Given the description of an element on the screen output the (x, y) to click on. 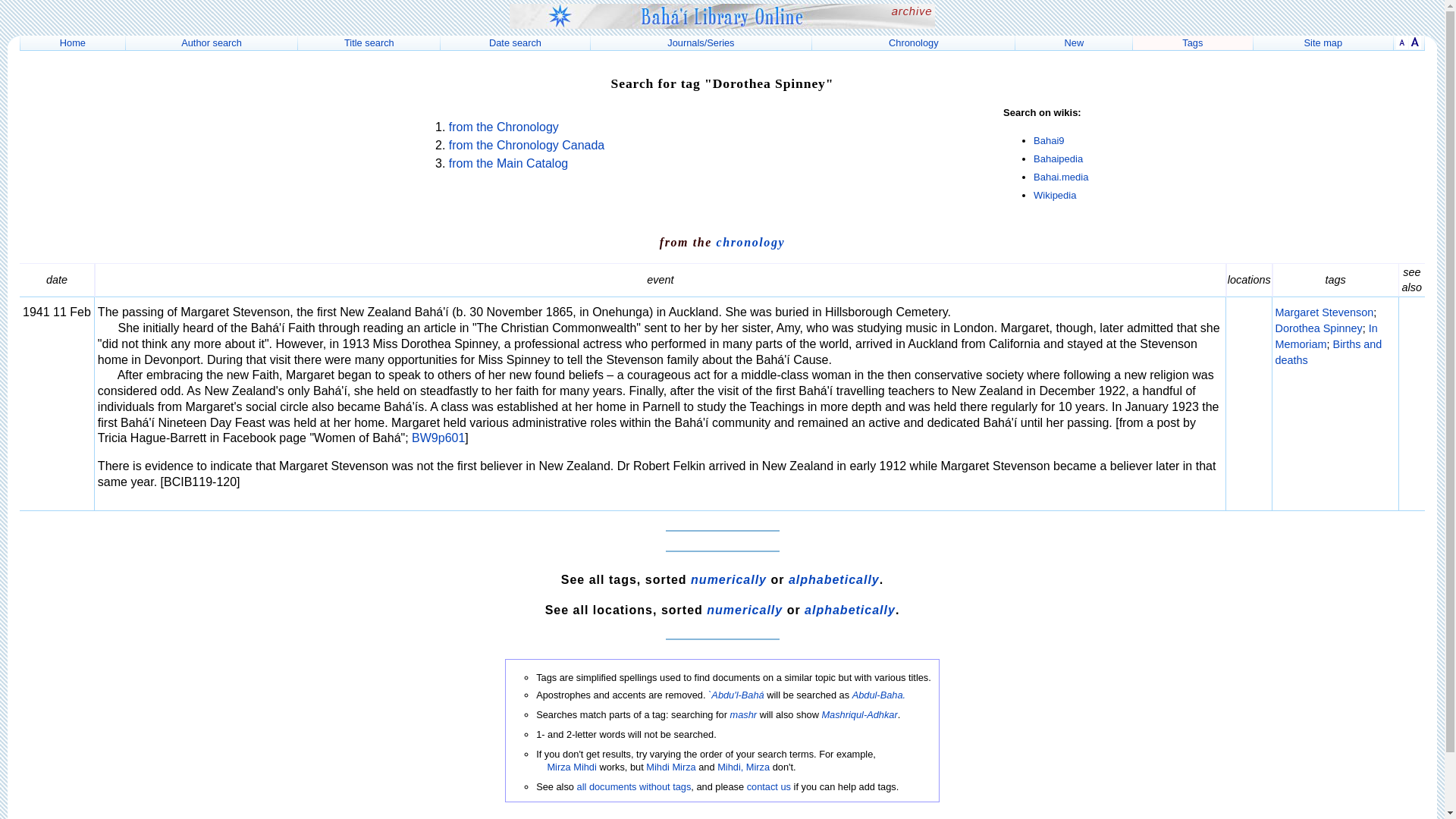
alphabetically (834, 579)
mashr (743, 714)
alphabetically (850, 609)
Chronology (912, 42)
Births and deaths (1328, 352)
Tags (1192, 42)
from the Main Catalog (507, 163)
chronology (751, 241)
Mihdi, Mirza (743, 767)
BW9p601 (438, 437)
Mashriqul-Adhkar (858, 714)
Bahaipedia (1058, 158)
In Memoriam (1326, 336)
New (1074, 42)
numerically (728, 579)
